Given the description of an element on the screen output the (x, y) to click on. 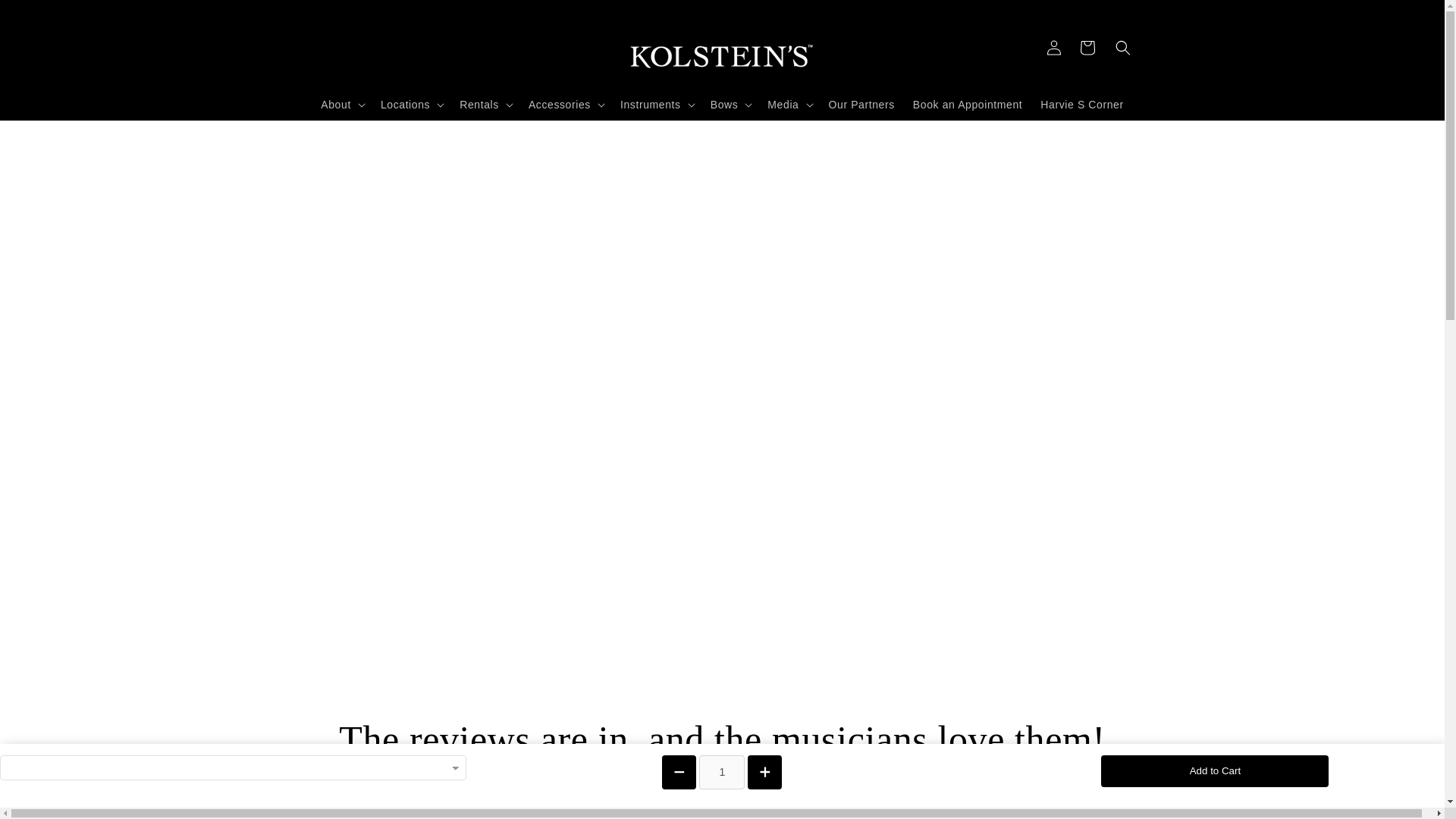
Skip to content (45, 17)
yt-video (943, 511)
1 (721, 771)
yt-video (499, 511)
